Given the description of an element on the screen output the (x, y) to click on. 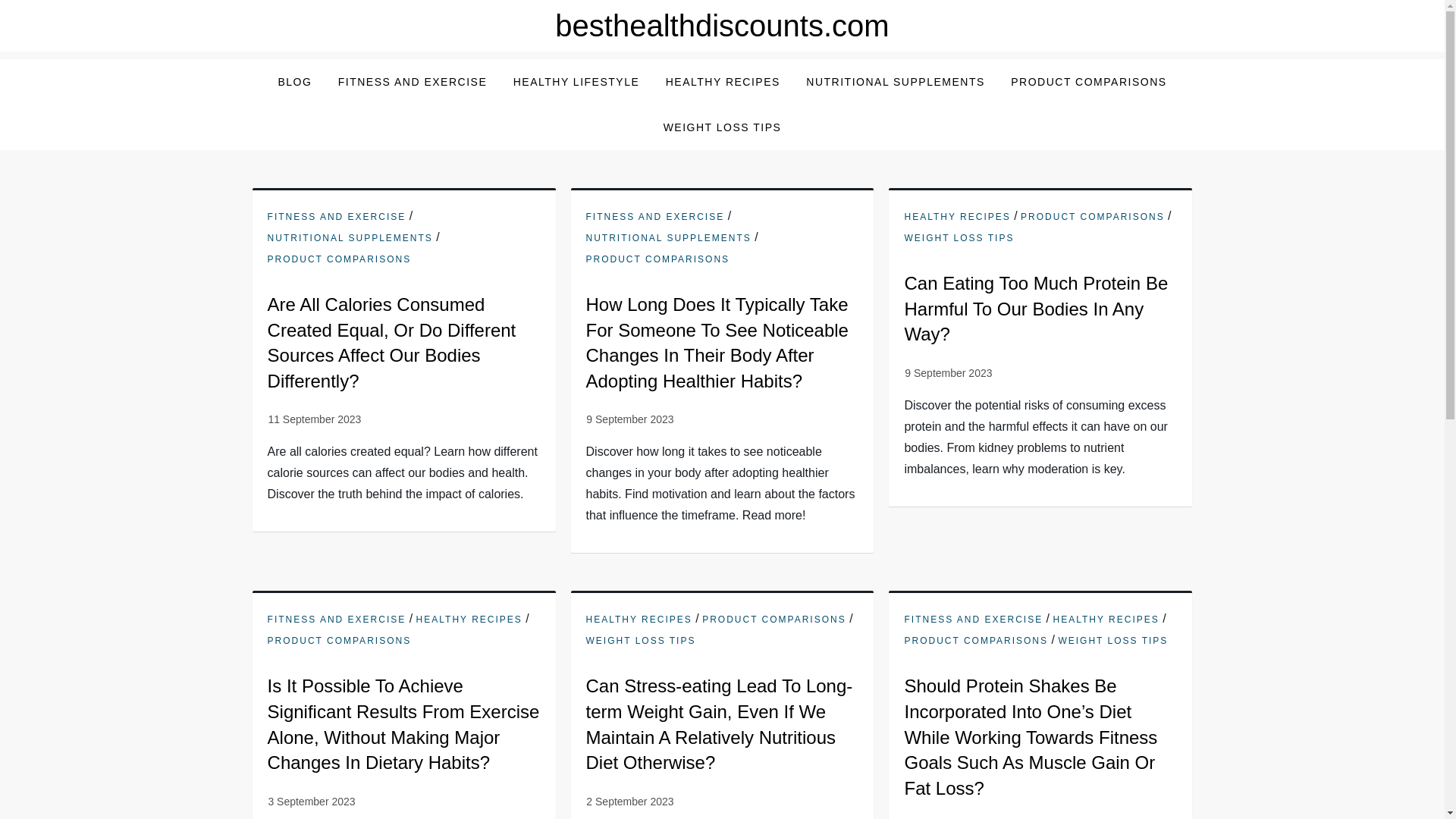
NUTRITIONAL SUPPLEMENTS (668, 238)
HEALTHY RECIPES (469, 620)
WEIGHT LOSS TIPS (640, 641)
PRODUCT COMPARISONS (773, 620)
FITNESS AND EXERCISE (336, 620)
WEIGHT LOSS TIPS (958, 238)
FITNESS AND EXERCISE (655, 217)
9 September 2023 (629, 419)
WEIGHT LOSS TIPS (1112, 641)
